Given the description of an element on the screen output the (x, y) to click on. 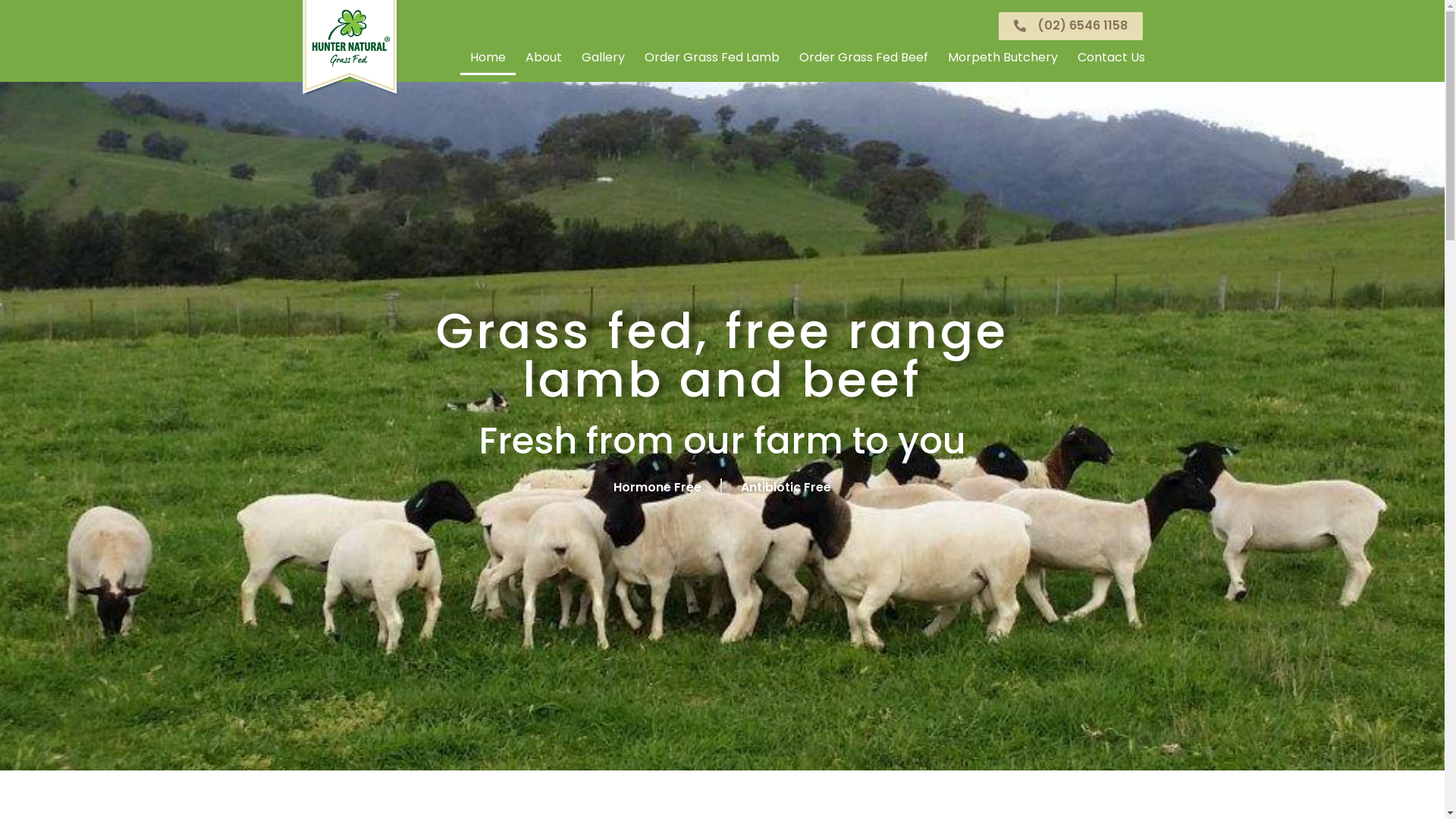
About Element type: text (543, 57)
Gallery Element type: text (602, 57)
Home Element type: text (486, 57)
Order Grass Fed Lamb Element type: text (710, 57)
Morpeth Butchery Element type: text (1001, 57)
(02) 6546 1158 Element type: text (1069, 26)
Order Grass Fed Beef Element type: text (862, 57)
Contact Us Element type: text (1110, 57)
